Given the description of an element on the screen output the (x, y) to click on. 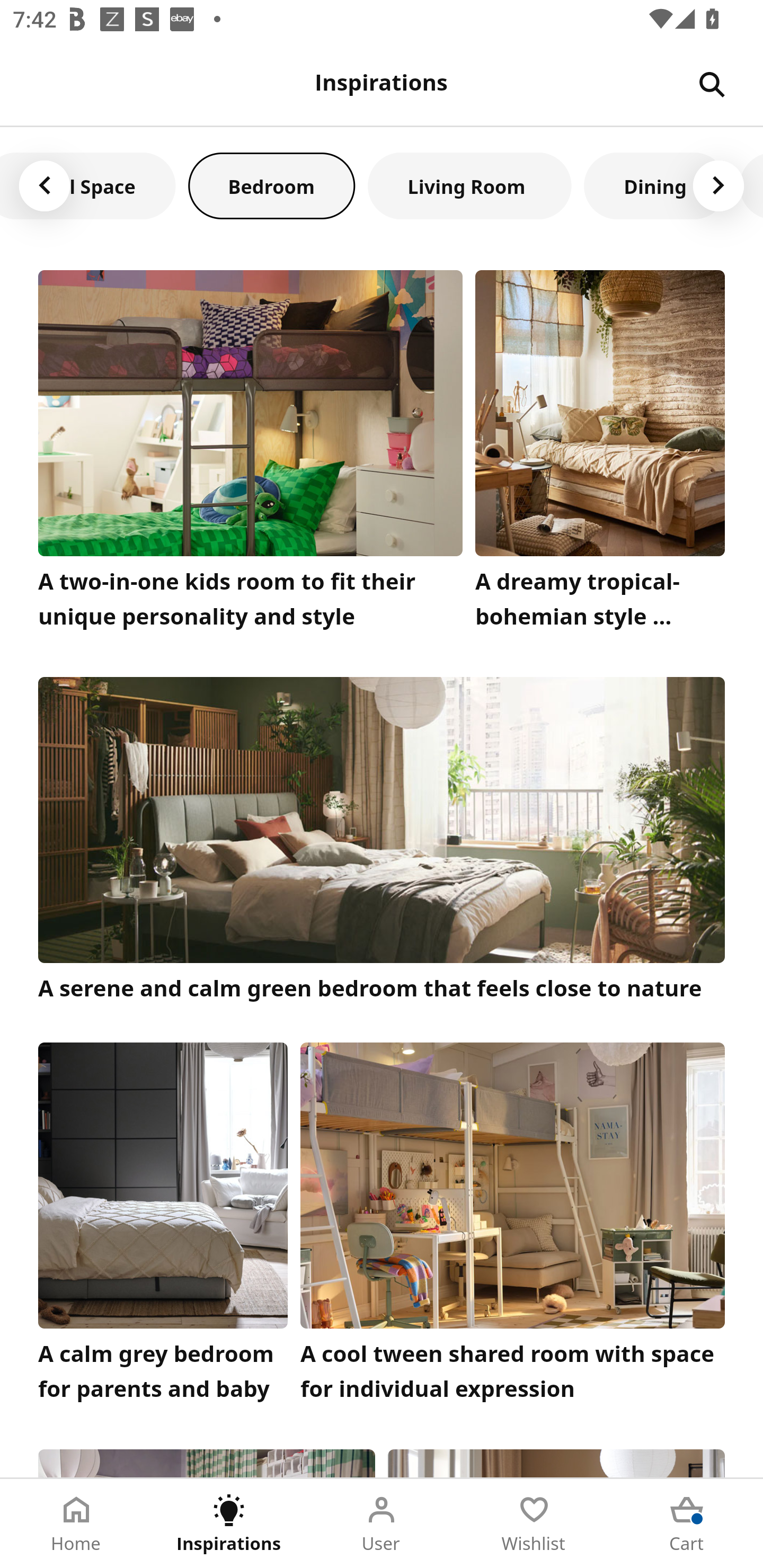
Bedroom (271, 185)
Living Room  (469, 185)
A calm grey bedroom for parents and baby (162, 1226)
Home
Tab 1 of 5 (76, 1522)
Inspirations
Tab 2 of 5 (228, 1522)
User
Tab 3 of 5 (381, 1522)
Wishlist
Tab 4 of 5 (533, 1522)
Cart
Tab 5 of 5 (686, 1522)
